Given the description of an element on the screen output the (x, y) to click on. 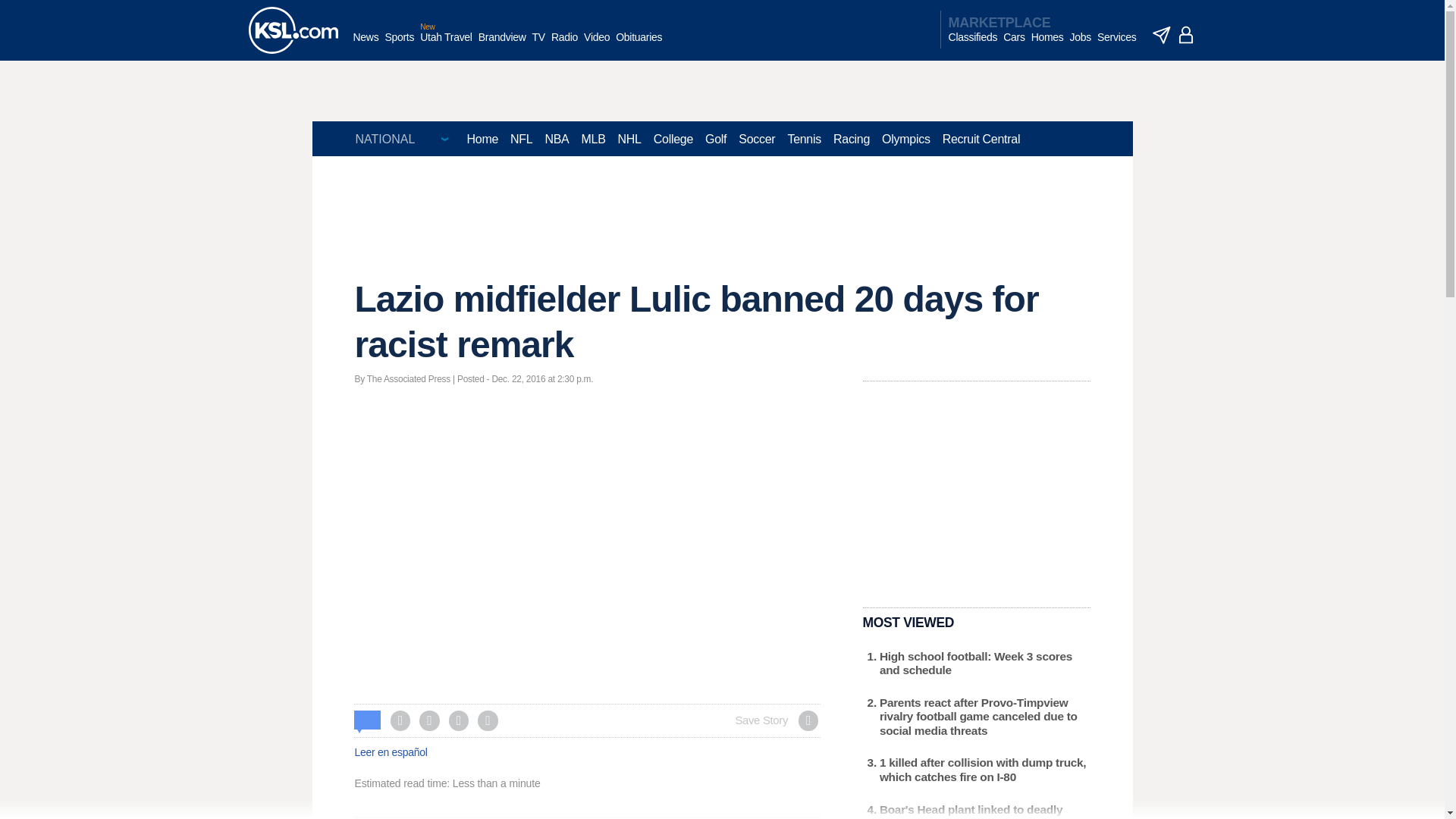
Utah Travel (445, 45)
Sports (398, 45)
KSL homepage (292, 29)
Brandview (502, 45)
KSL homepage (292, 30)
account - logged out (1185, 34)
